Given the description of an element on the screen output the (x, y) to click on. 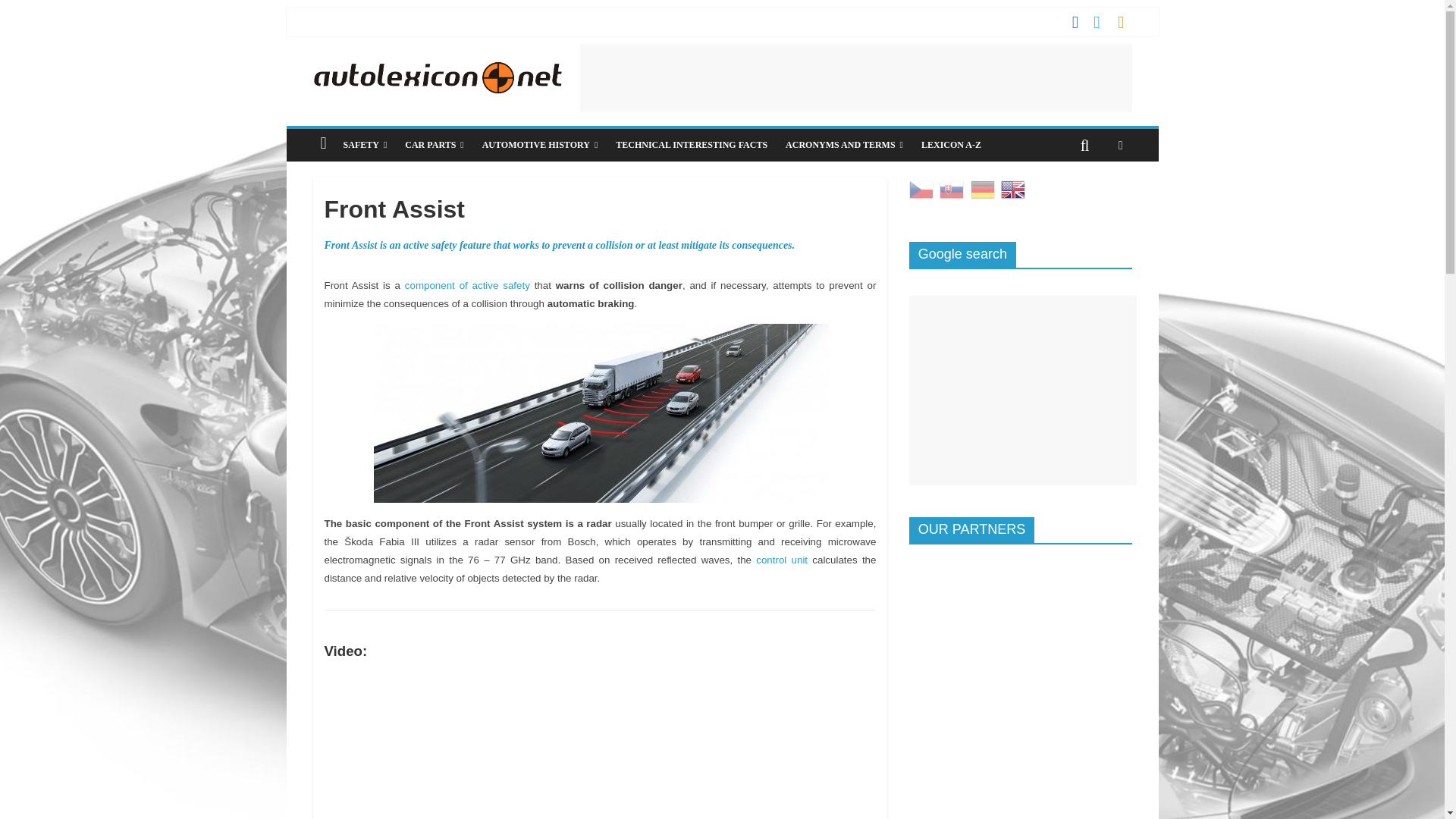
AUTOMOTIVE HISTORY (540, 144)
CAR PARTS (433, 144)
Front Assist driving assistant - demonstration of function (601, 412)
ACRONYMS AND TERMS (844, 144)
SAFETY (365, 144)
TECHNICAL INTERESTING FACTS (691, 144)
component of active safety (466, 285)
LEXICON A-Z (951, 144)
Advertisement (855, 78)
autolexicon.net (436, 52)
